Given the description of an element on the screen output the (x, y) to click on. 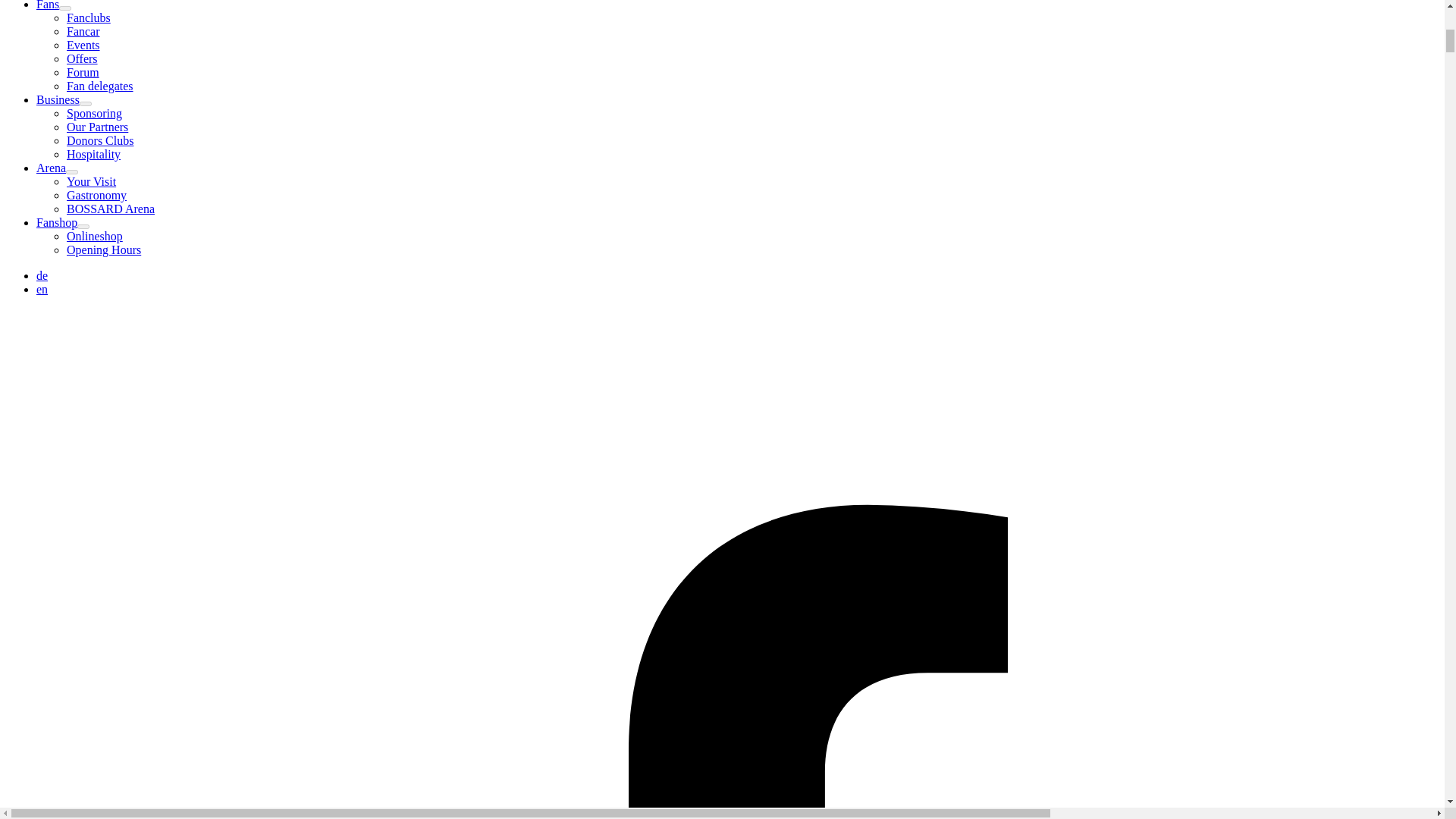
English (42, 288)
Deutsch (42, 275)
